Given the description of an element on the screen output the (x, y) to click on. 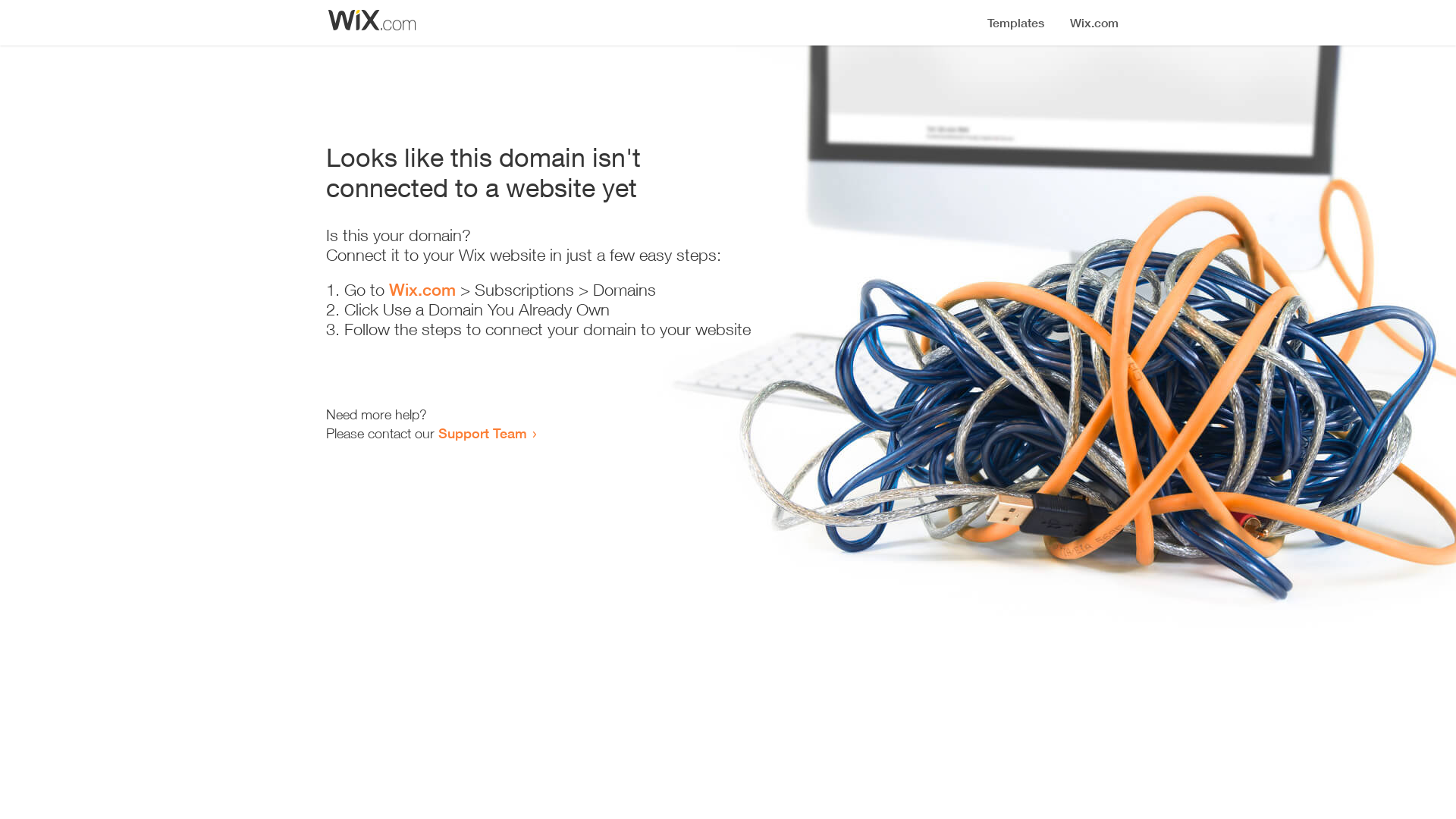
Wix.com Element type: text (422, 289)
Support Team Element type: text (482, 432)
